Given the description of an element on the screen output the (x, y) to click on. 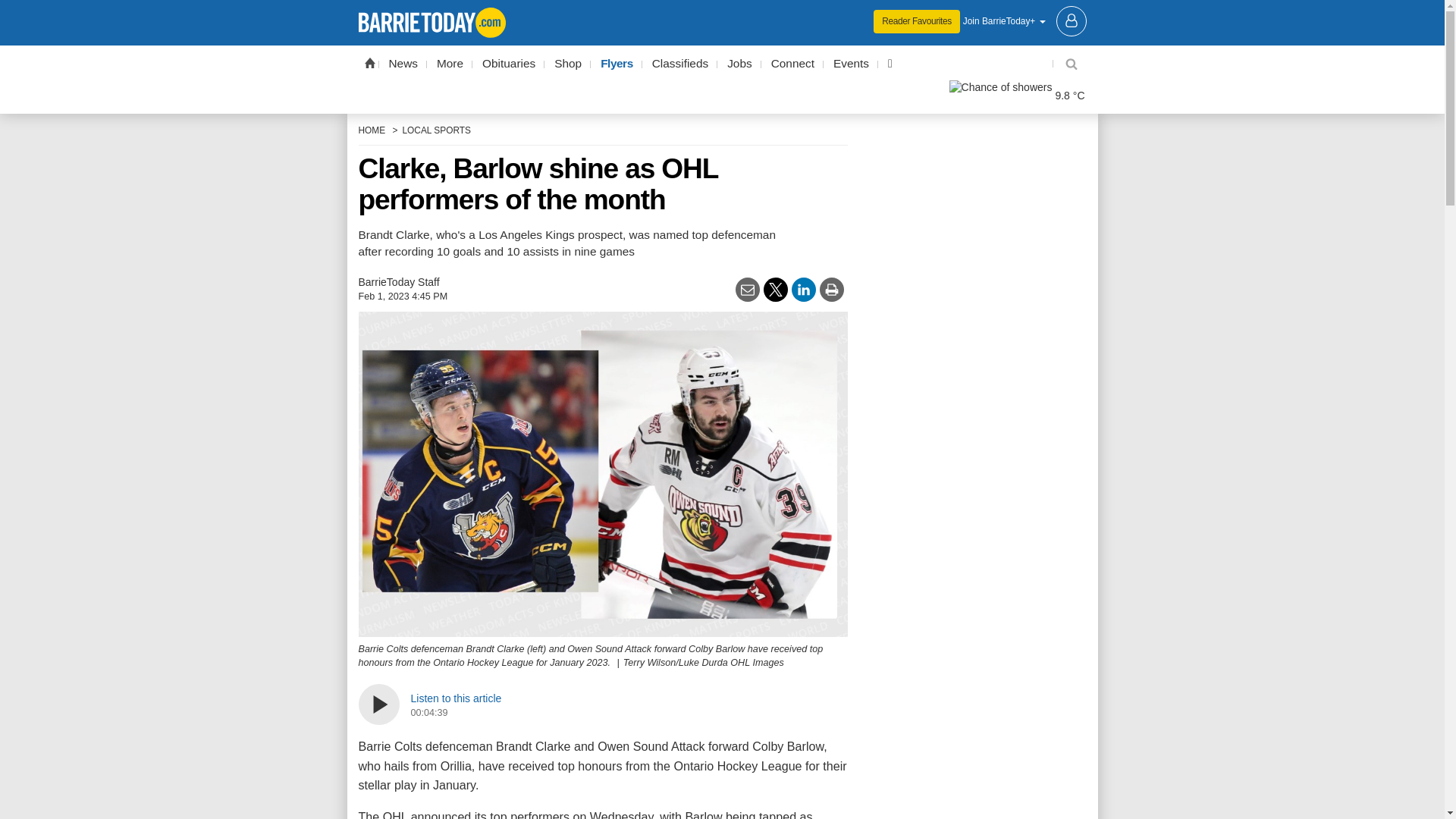
Reader Favourites (916, 21)
Home (368, 62)
News (403, 64)
